Given the description of an element on the screen output the (x, y) to click on. 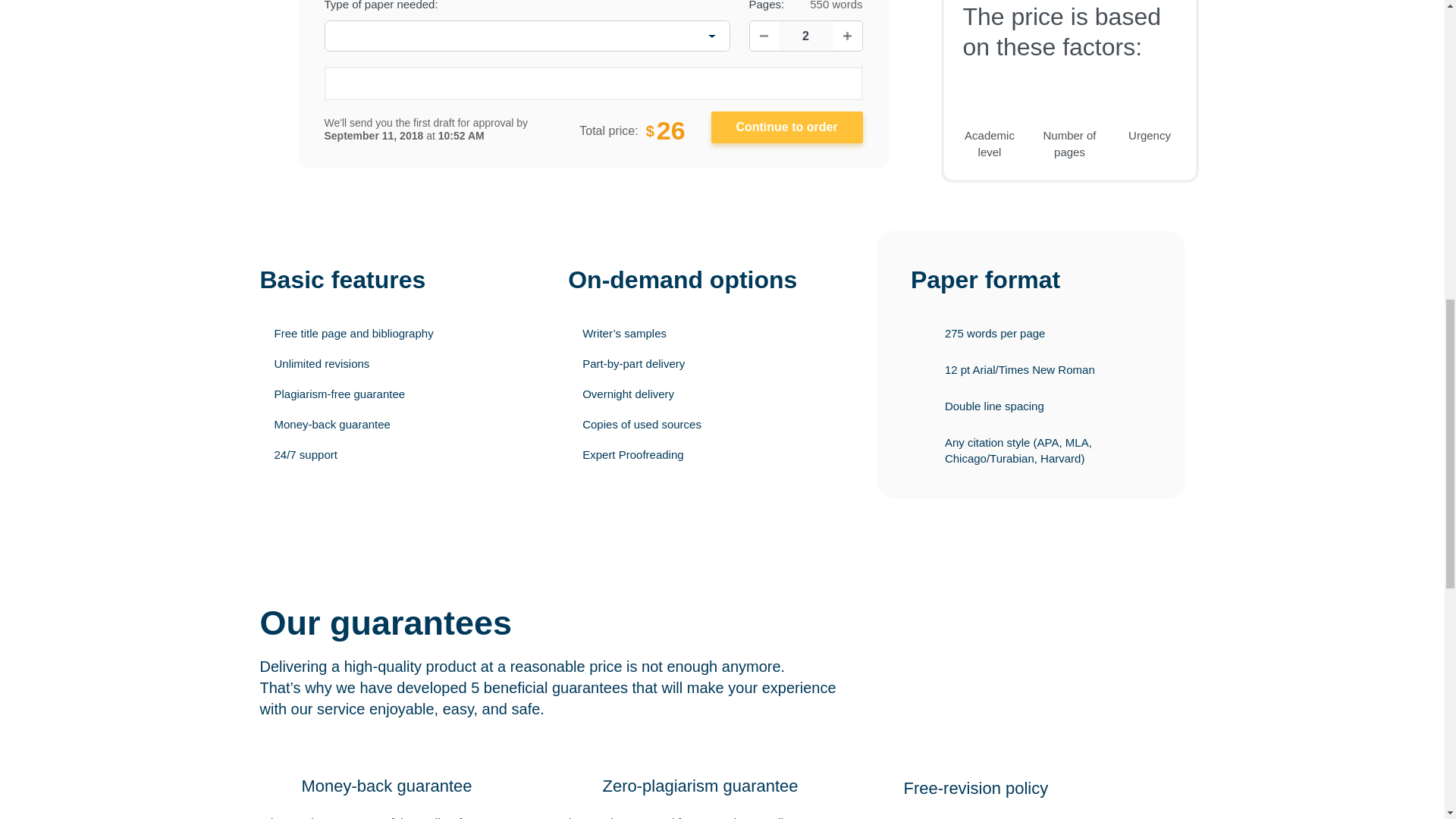
Continue to order (787, 127)
Decrease (763, 36)
Increase (846, 36)
Continue to order (787, 127)
Continue to Order (787, 127)
2 (804, 35)
